Given the description of an element on the screen output the (x, y) to click on. 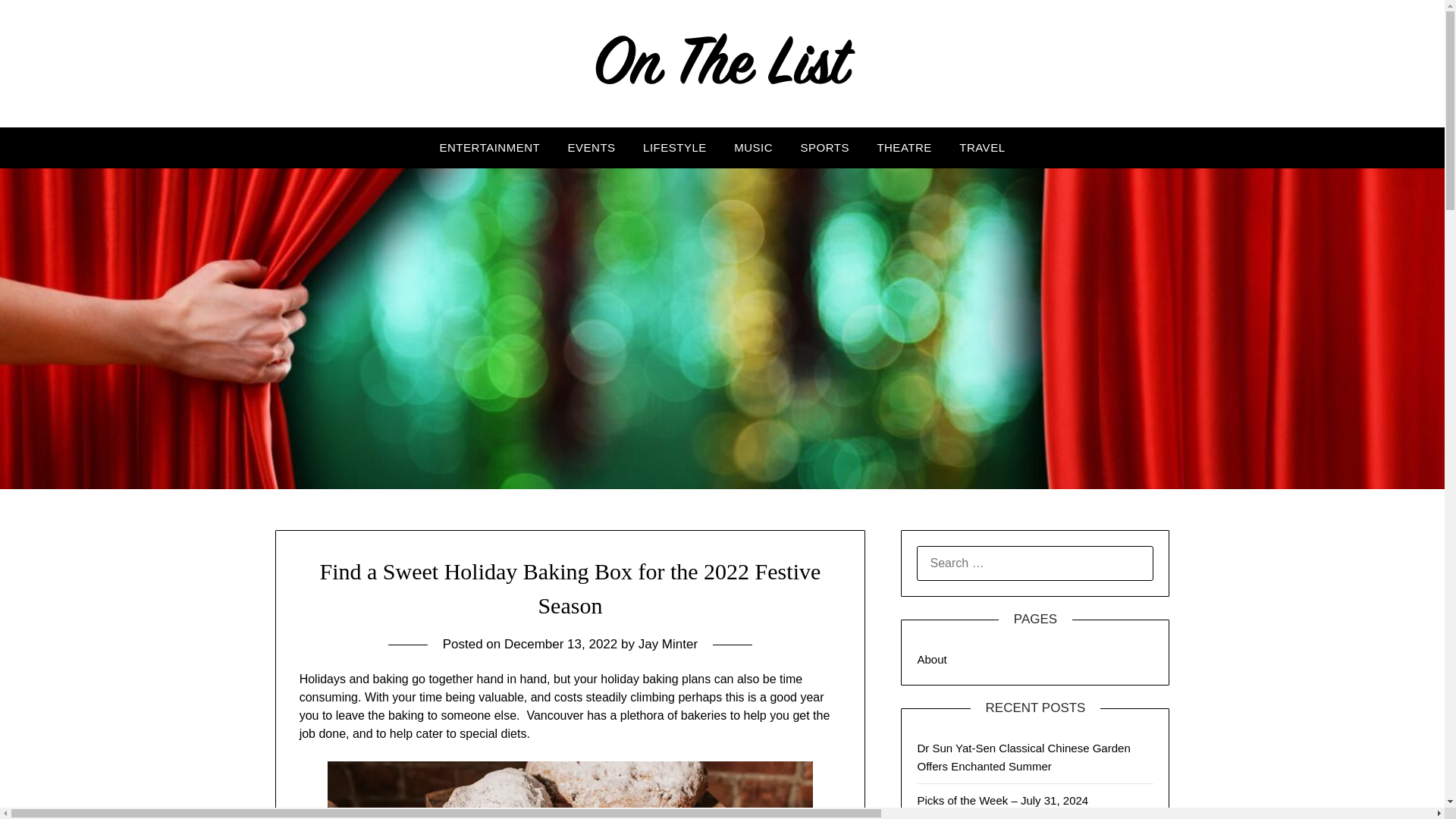
Search (38, 22)
LIFESTYLE (674, 147)
Jay Minter (668, 644)
MUSIC (753, 147)
TRAVEL (981, 147)
SPORTS (825, 147)
About (931, 658)
EVENTS (591, 147)
December 13, 2022 (560, 644)
ENTERTAINMENT (490, 147)
